Given the description of an element on the screen output the (x, y) to click on. 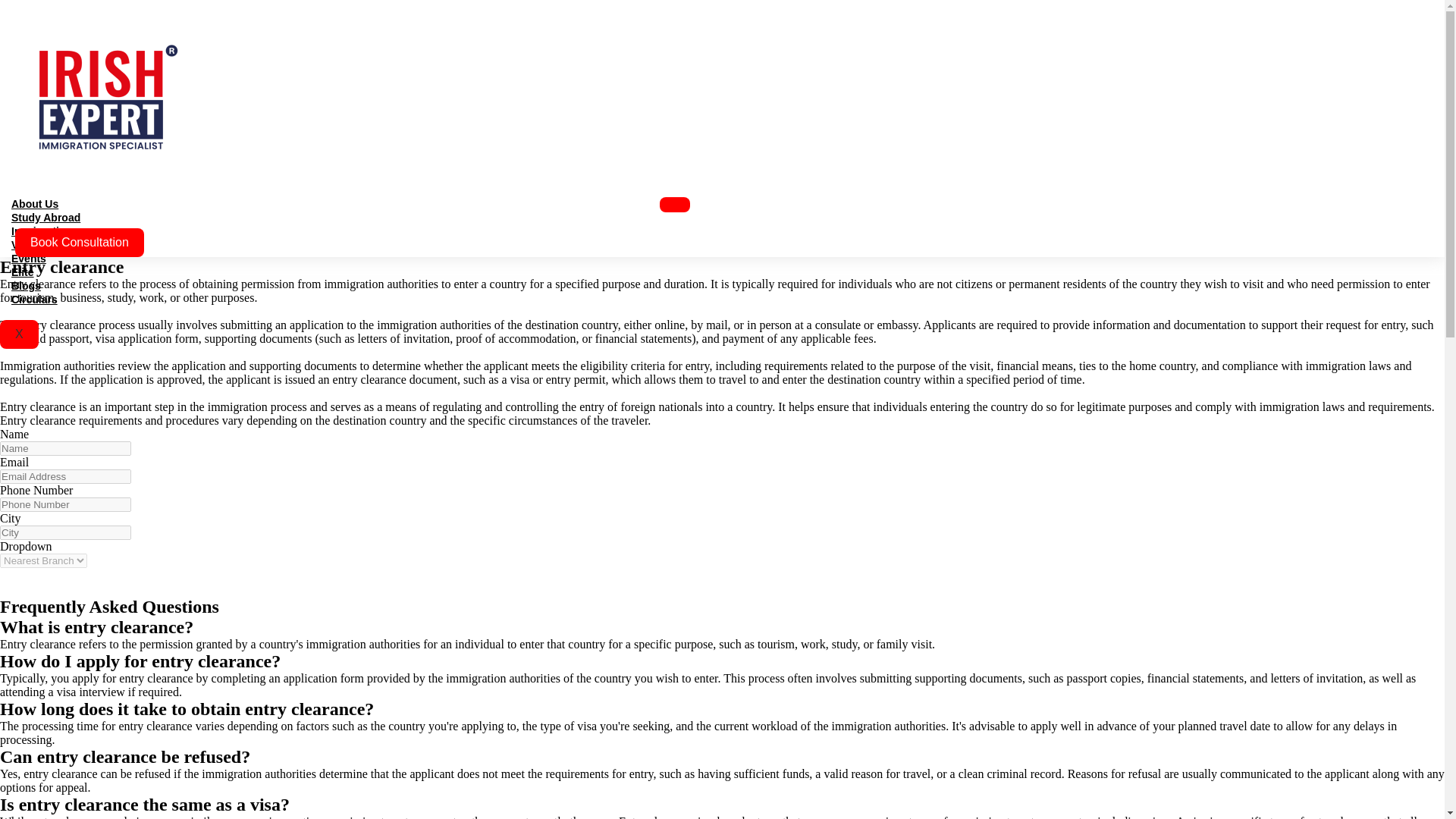
Immigration (41, 231)
Circulars (34, 299)
Book Consultation (79, 242)
Blogs (26, 285)
Events (29, 258)
Elite (22, 272)
Visa Services (45, 244)
Register Now (51, 582)
X (19, 334)
Study Abroad (45, 217)
